Given the description of an element on the screen output the (x, y) to click on. 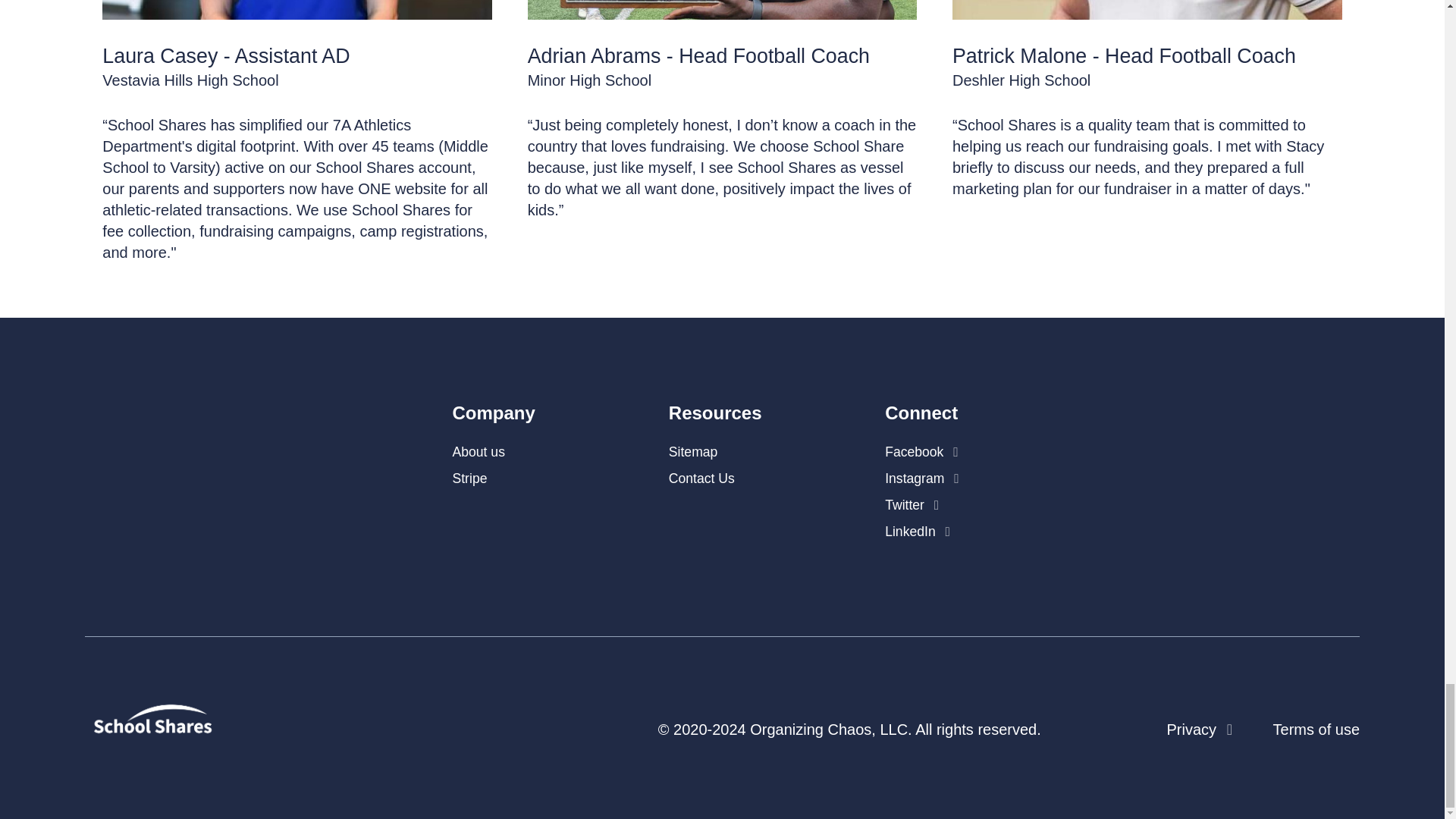
Twitter (912, 504)
Contact Us (701, 478)
Sitemap (692, 451)
Privacy (1201, 729)
Stripe (468, 478)
Instagram (922, 478)
About us (477, 451)
Facebook (921, 451)
Terms of use (1315, 729)
LinkedIn (917, 531)
